Given the description of an element on the screen output the (x, y) to click on. 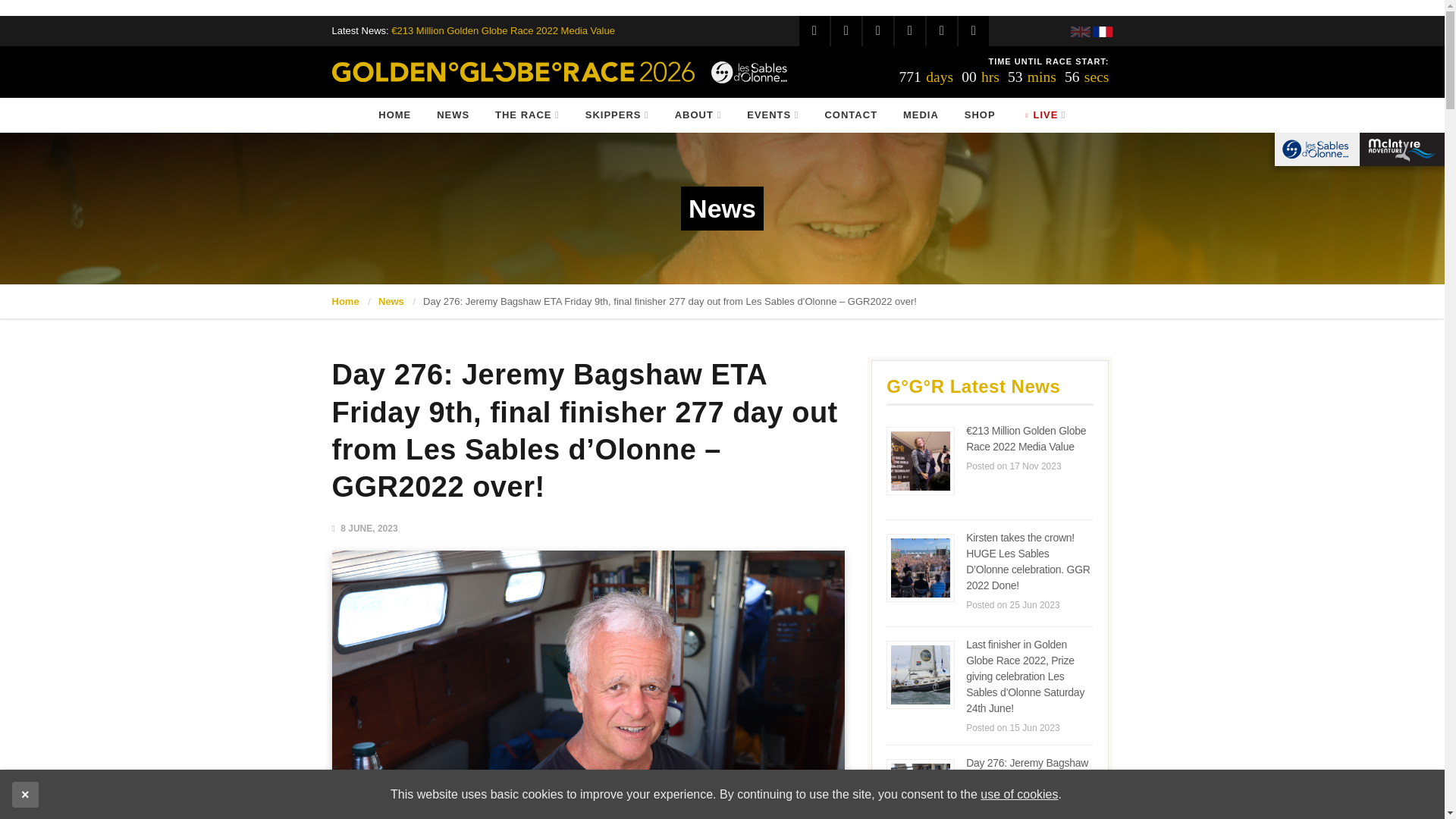
Facebook (814, 30)
Instagram (878, 30)
ENG (1080, 31)
THE RACE (527, 114)
Flickr (973, 30)
SoundCloud (941, 30)
NEWS (452, 114)
FR (1102, 31)
YouTube (909, 30)
SKIPPERS (617, 114)
Golden Globe Race (512, 71)
HOME (394, 114)
Twitter (846, 30)
